Given the description of an element on the screen output the (x, y) to click on. 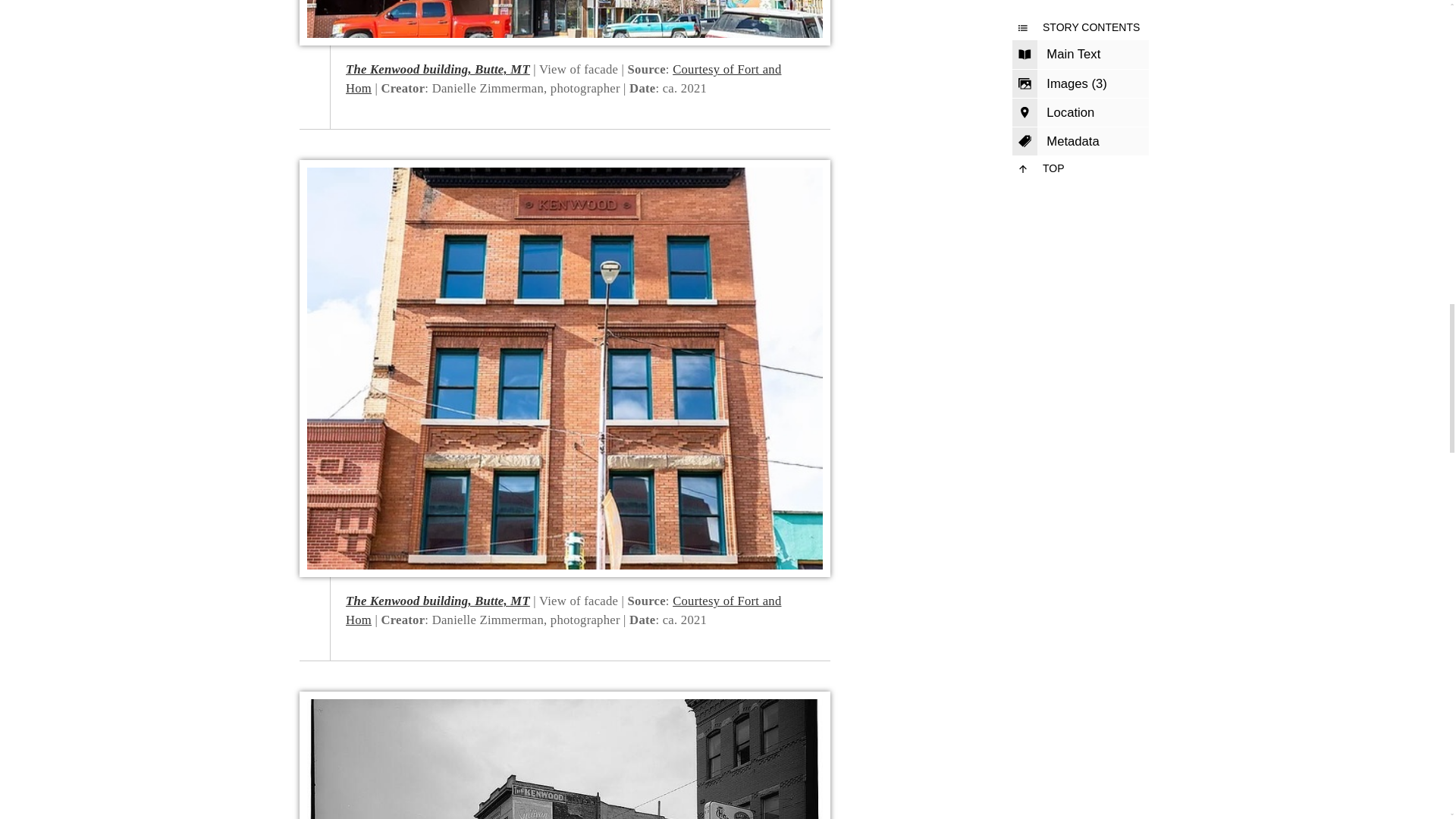
The Kenwood building, Butte, MT (437, 600)
View File Record (437, 69)
The Kenwood building, Butte, MT (437, 69)
Courtesy of Fort and Hom (563, 78)
